Given the description of an element on the screen output the (x, y) to click on. 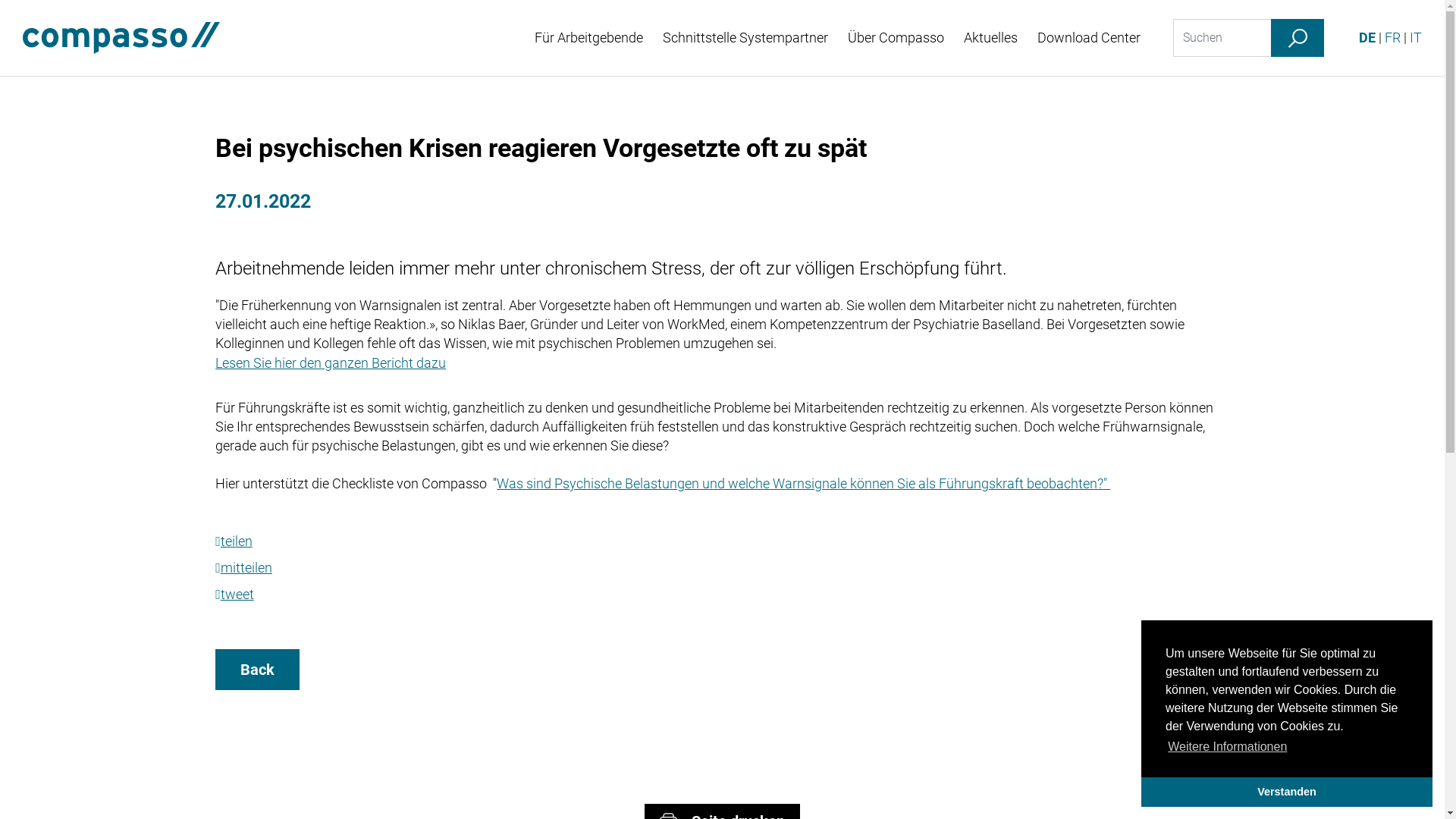
Verstanden Element type: text (1286, 791)
Lesen Sie hier den ganzen Bericht dazu Element type: text (330, 362)
FR Element type: text (1392, 37)
Back Element type: text (257, 669)
Weitere Informationen Element type: text (1227, 746)
Aktuelles Element type: text (990, 37)
mitteilen Element type: text (243, 567)
DE Element type: text (1366, 37)
tweet Element type: text (234, 594)
Suchen Element type: text (1297, 37)
IT Element type: text (1415, 37)
Schnittstelle Systempartner Element type: text (745, 37)
teilen Element type: text (233, 541)
Download Center Element type: text (1088, 37)
